Given the description of an element on the screen output the (x, y) to click on. 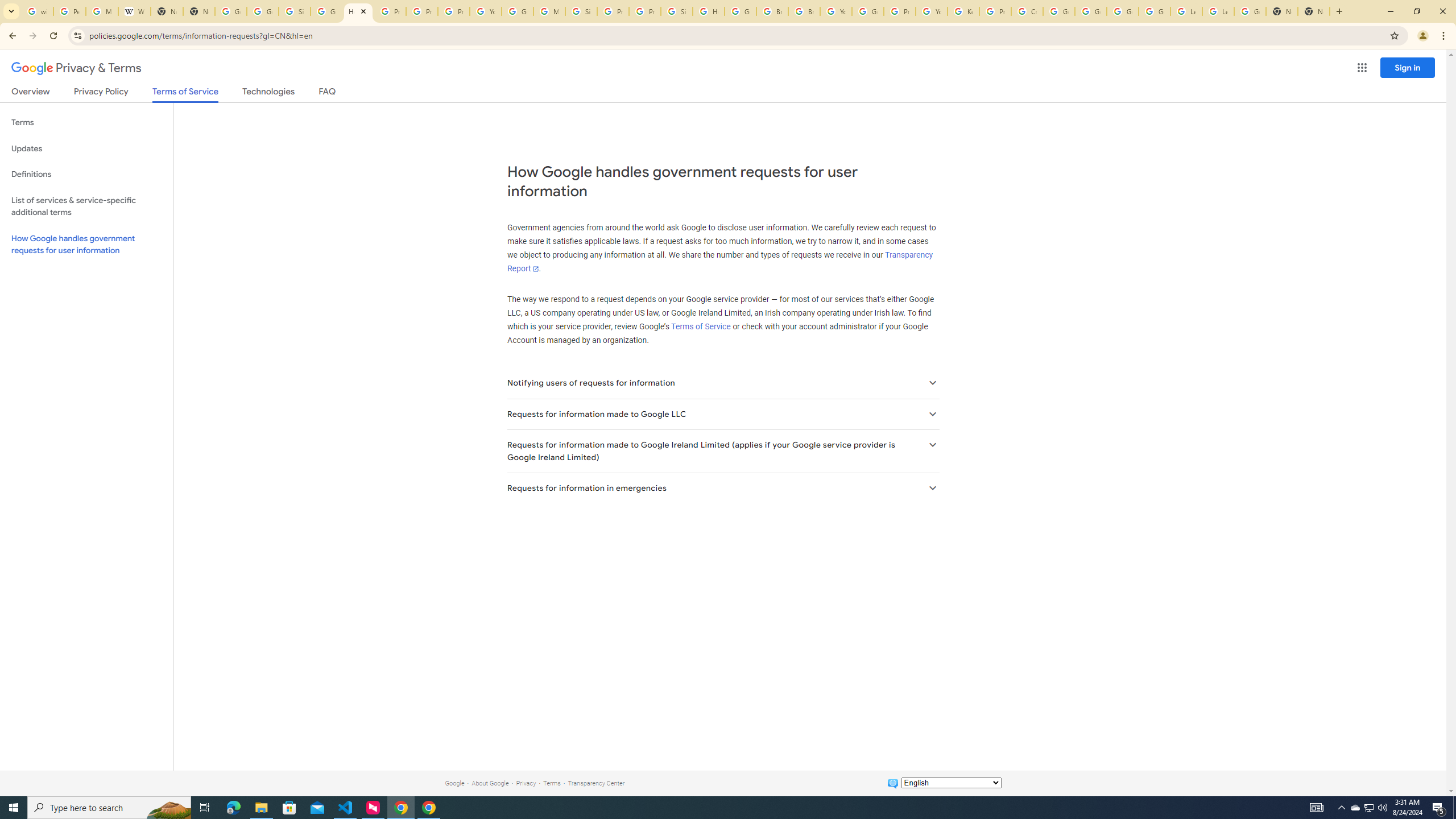
YouTube (836, 11)
Google Drive: Sign-in (262, 11)
Manage your Location History - Google Search Help (101, 11)
